Given the description of an element on the screen output the (x, y) to click on. 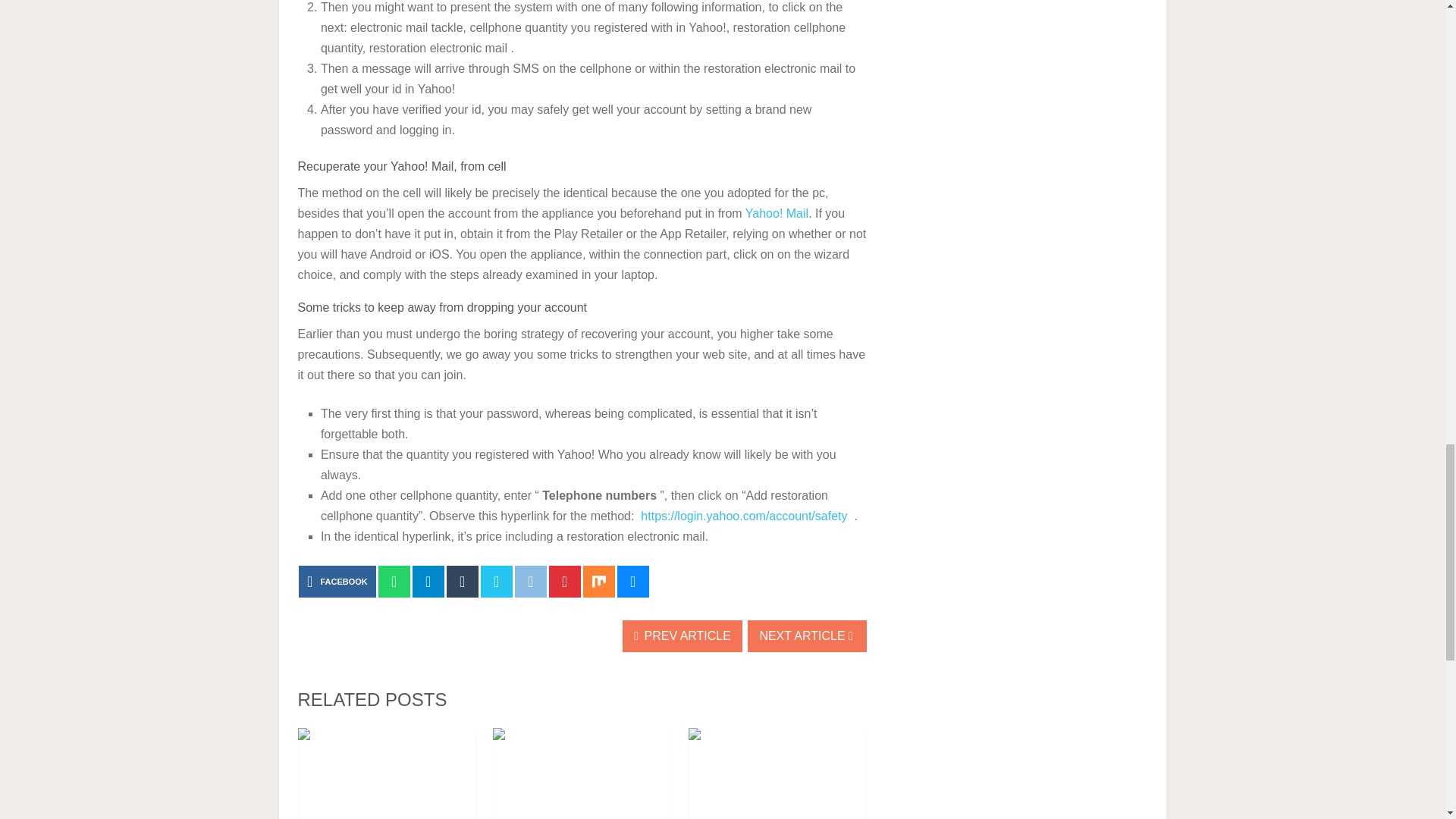
FACEBOOK (336, 581)
How to Create Yahoo Account (777, 773)
Yahoo Forgot Email: How You Can Find Email Addresses (386, 773)
How to Yahoo Mail Create Account (582, 773)
Yahoo! Mail (776, 213)
PREV ARTICLE (682, 635)
NEXT ARTICLE (807, 635)
